Given the description of an element on the screen output the (x, y) to click on. 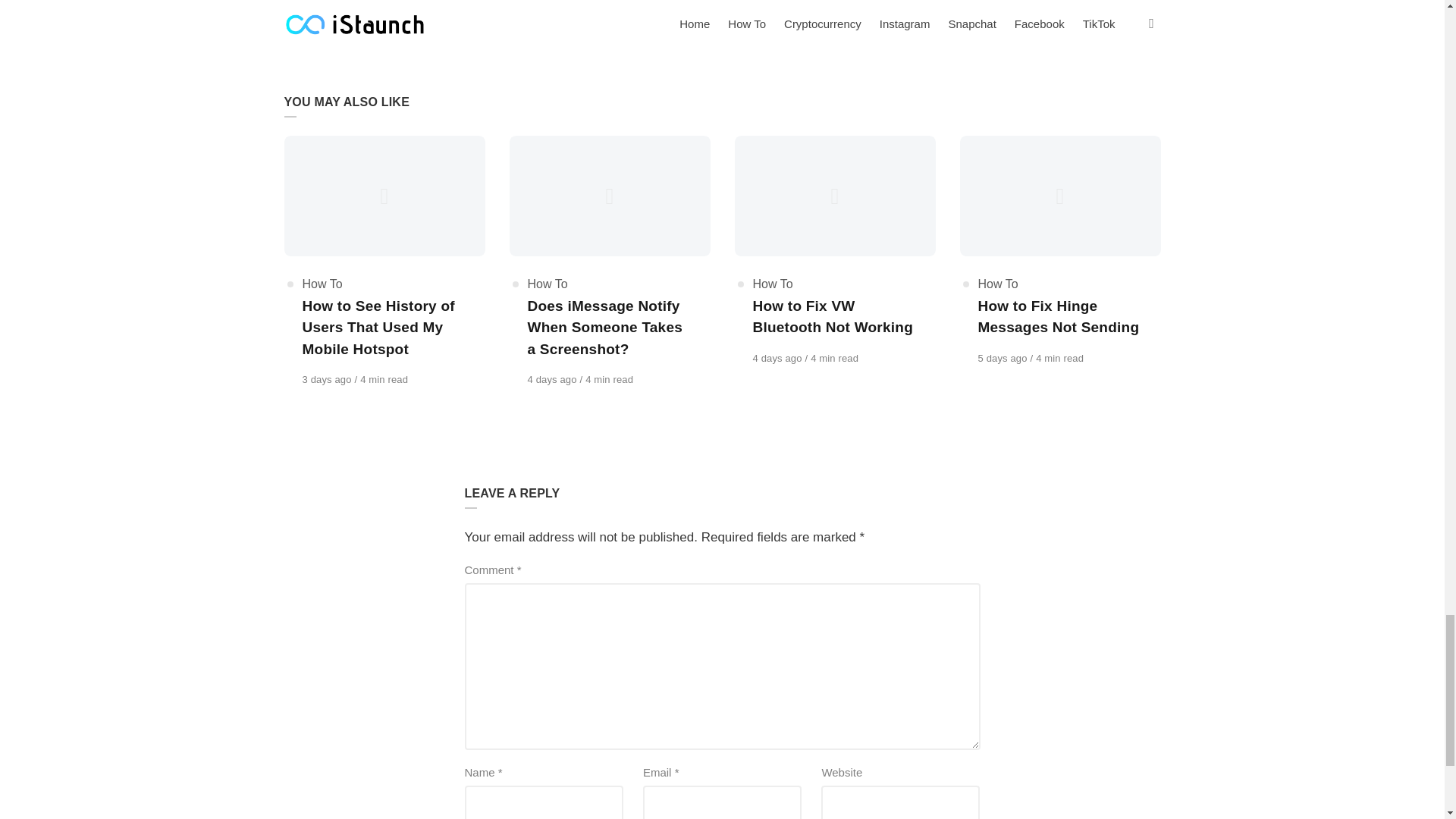
August 30, 2024 (327, 378)
August 29, 2024 (778, 357)
August 28, 2024 (1004, 357)
August 29, 2024 (553, 378)
